Given the description of an element on the screen output the (x, y) to click on. 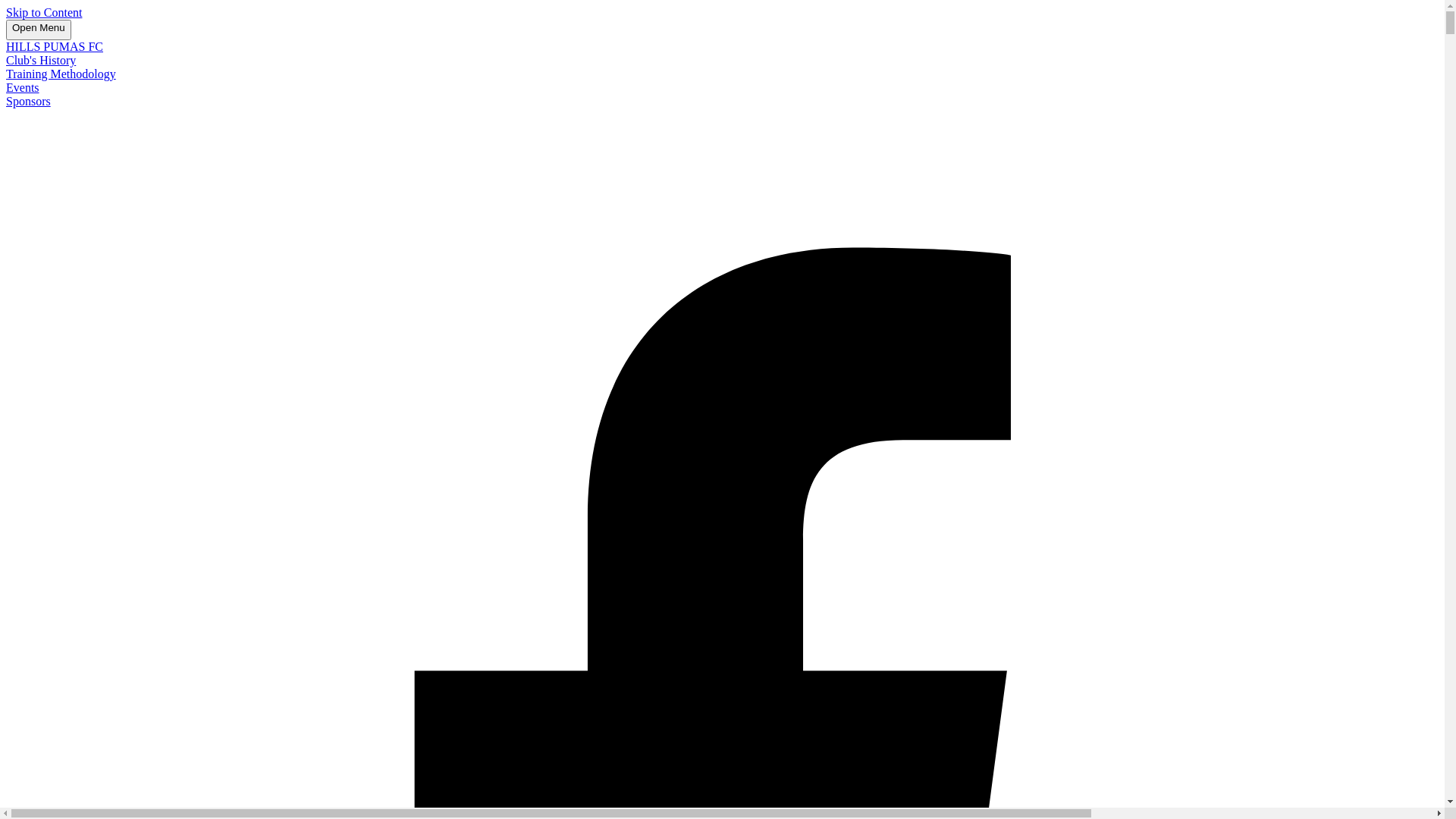
Skip to Content Element type: text (43, 12)
Sponsors Element type: text (28, 100)
HILLS PUMAS FC Element type: text (54, 46)
Open Menu Element type: text (38, 29)
Training Methodology Element type: text (61, 73)
Events Element type: text (22, 87)
Club's History Element type: text (40, 59)
